Given the description of an element on the screen output the (x, y) to click on. 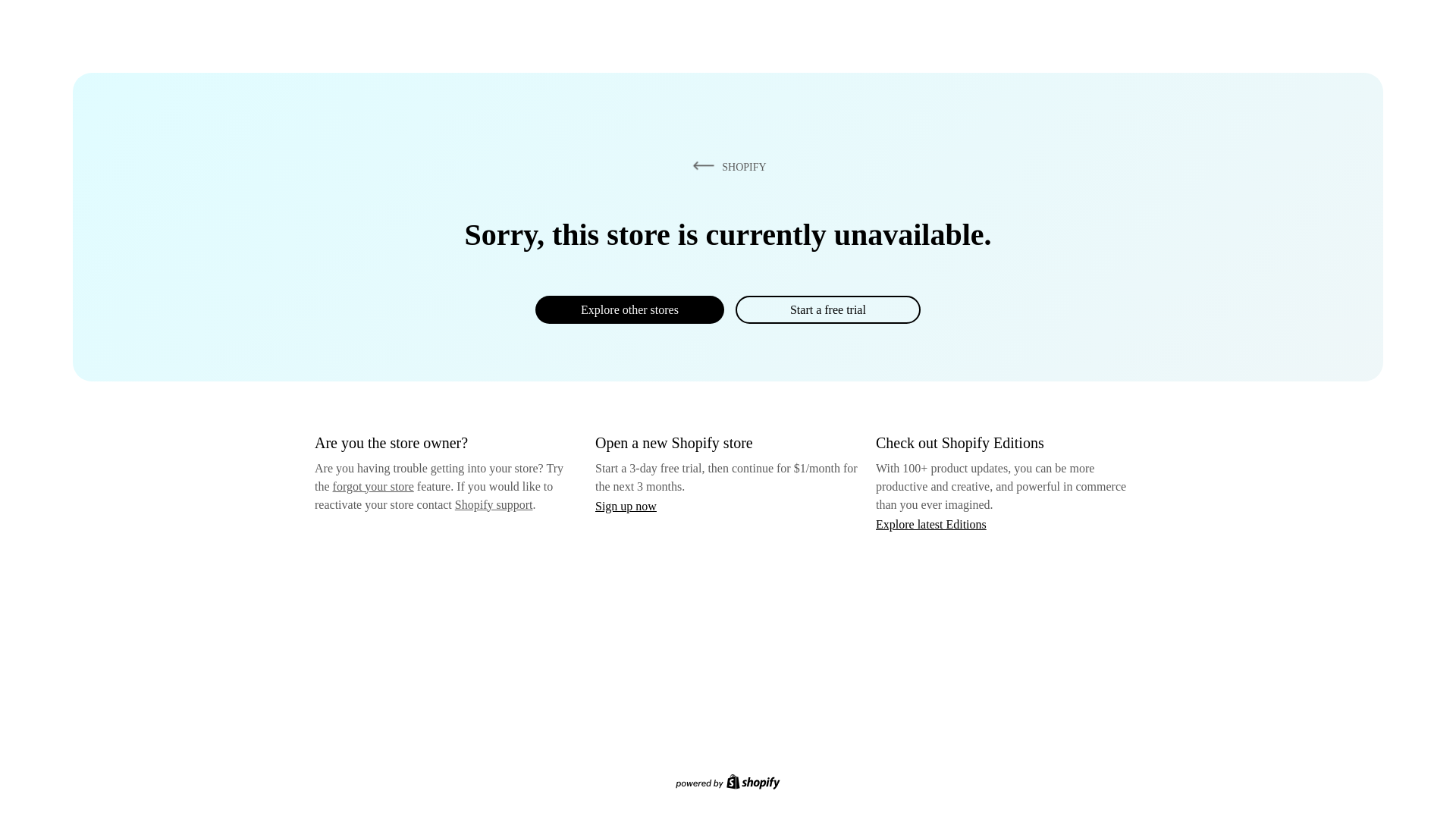
Shopify support (493, 504)
Explore other stores (629, 309)
SHOPIFY (726, 166)
Start a free trial (827, 309)
Sign up now (625, 505)
Explore latest Editions (931, 523)
forgot your store (373, 486)
